Given the description of an element on the screen output the (x, y) to click on. 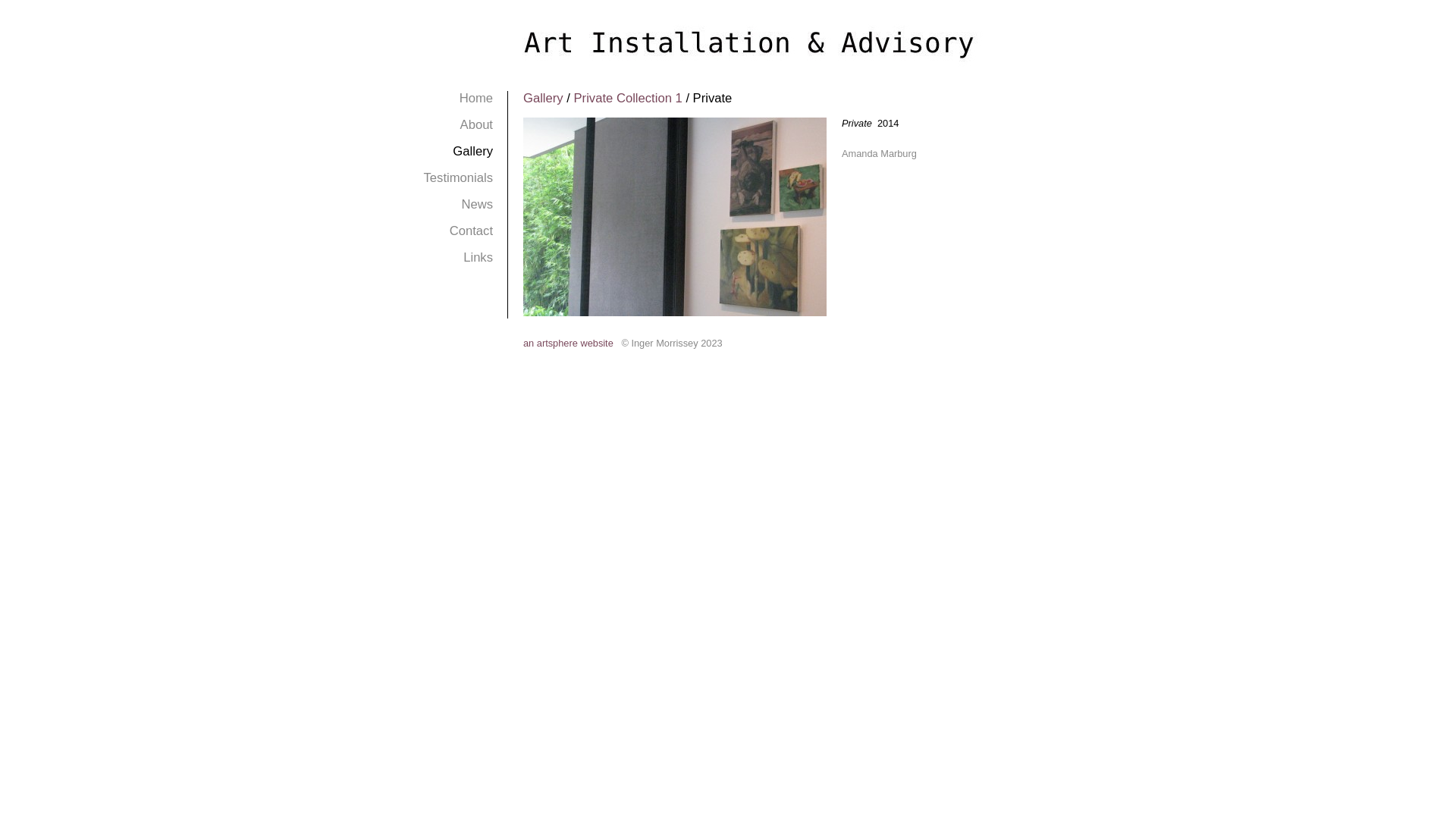
Contact Element type: text (470, 230)
About Element type: text (476, 124)
an artsphere website Element type: text (568, 342)
Links Element type: text (477, 257)
Private Element type: hover (674, 312)
Testimonials Element type: text (457, 177)
News Element type: text (476, 204)
Private Collection 1 Element type: text (628, 98)
Private 2014 by Inger Morrissey Element type: hover (674, 216)
Gallery Element type: text (543, 98)
Home Element type: text (475, 98)
Gallery Element type: text (472, 151)
